Given the description of an element on the screen output the (x, y) to click on. 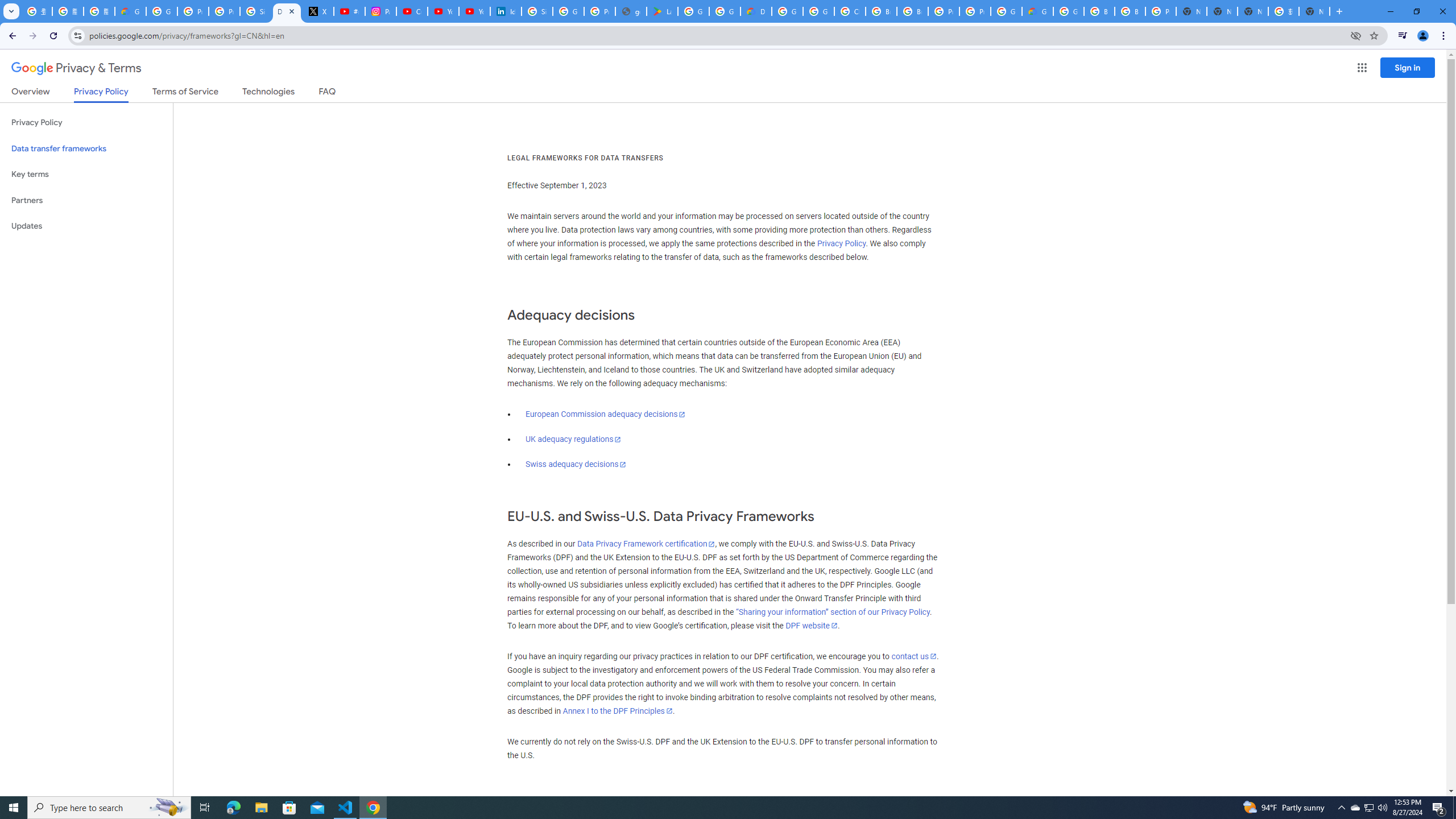
#nbabasketballhighlights - YouTube (349, 11)
Google Cloud Privacy Notice (130, 11)
Browse Chrome as a guest - Computer - Google Chrome Help (881, 11)
New Tab (1190, 11)
